Given the description of an element on the screen output the (x, y) to click on. 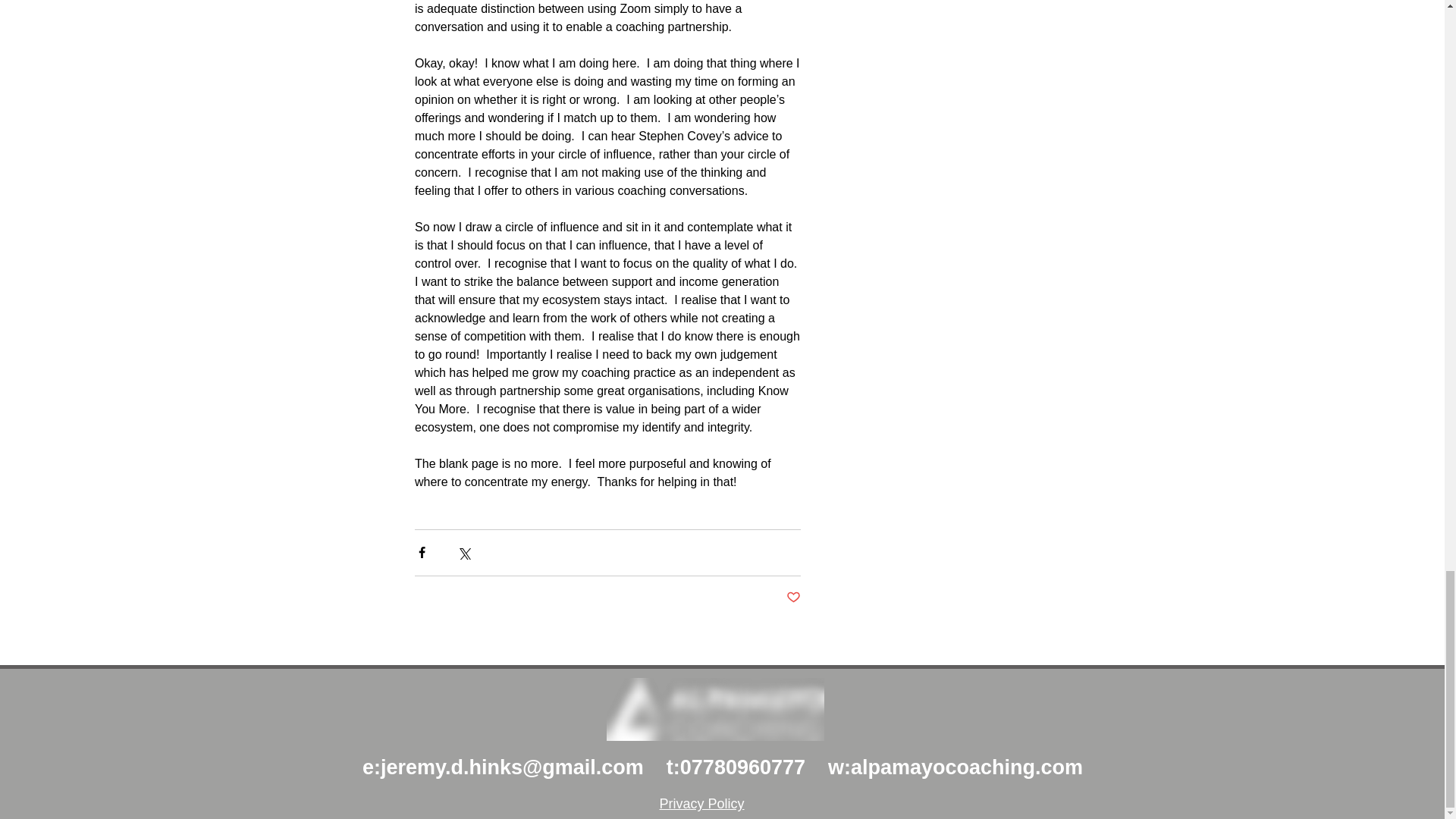
Privacy Policy (701, 803)
Post not marked as liked (792, 597)
